Given the description of an element on the screen output the (x, y) to click on. 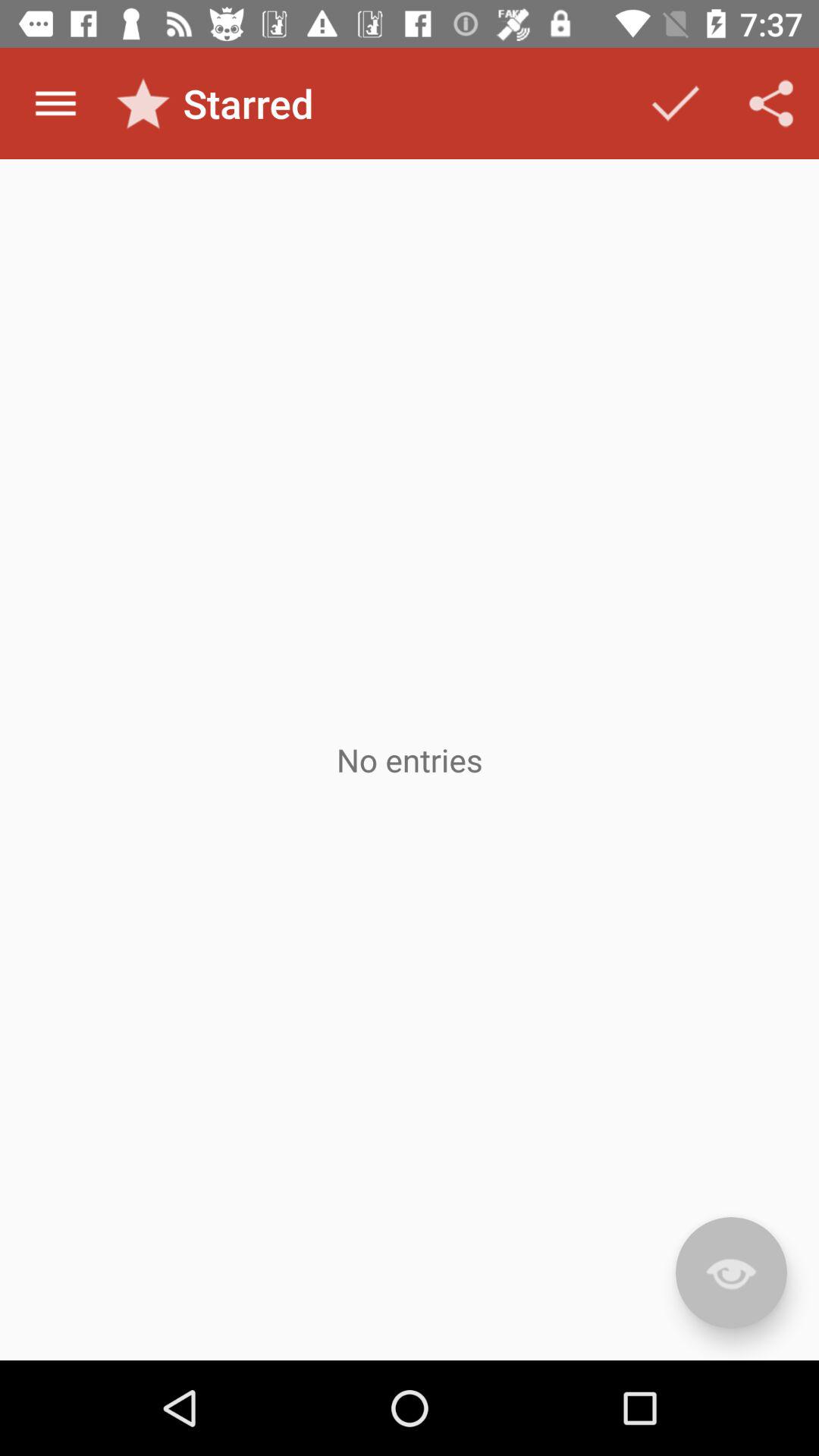
swipe until no entries app (409, 759)
